Given the description of an element on the screen output the (x, y) to click on. 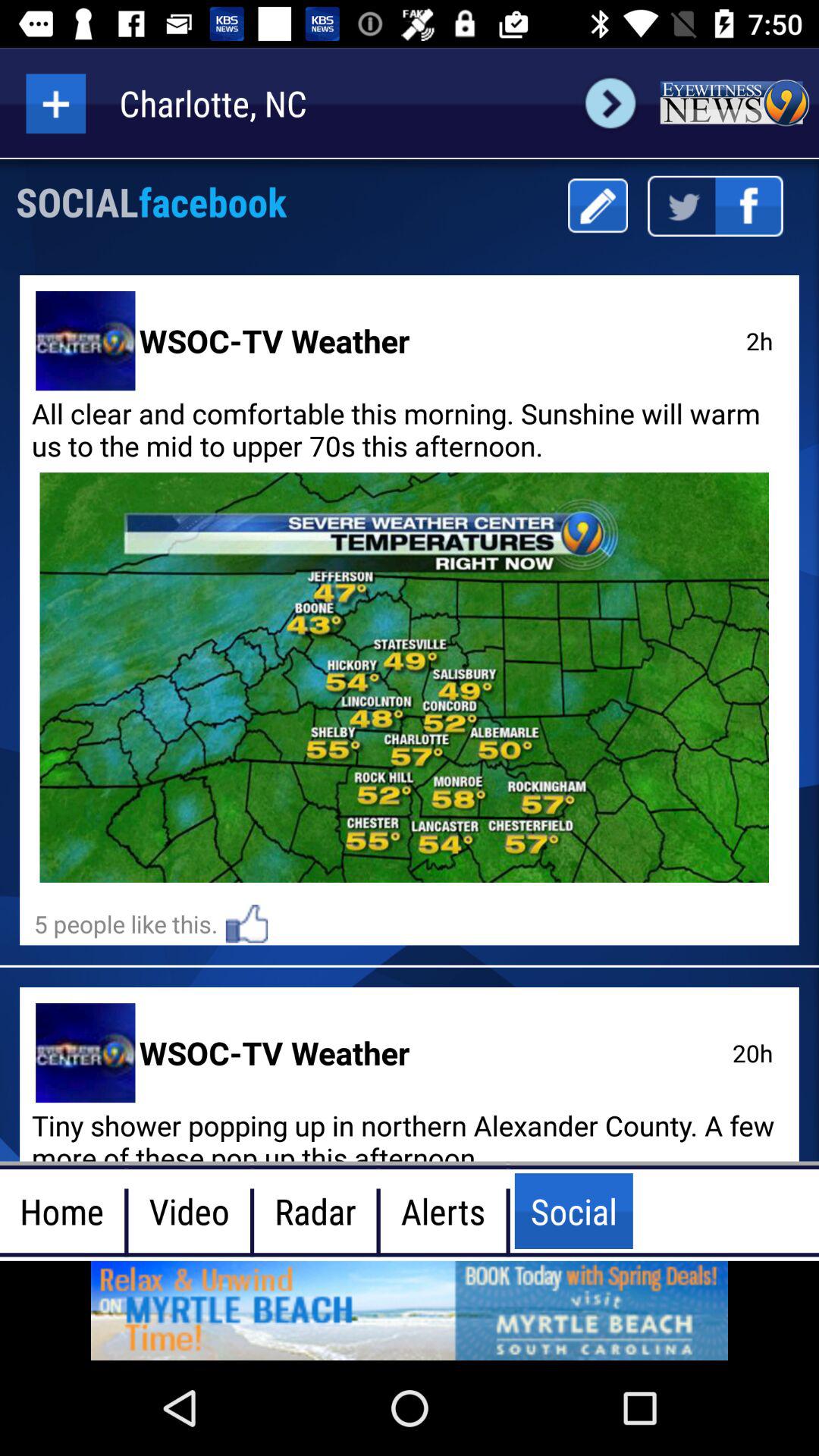
write a post (597, 206)
